Given the description of an element on the screen output the (x, y) to click on. 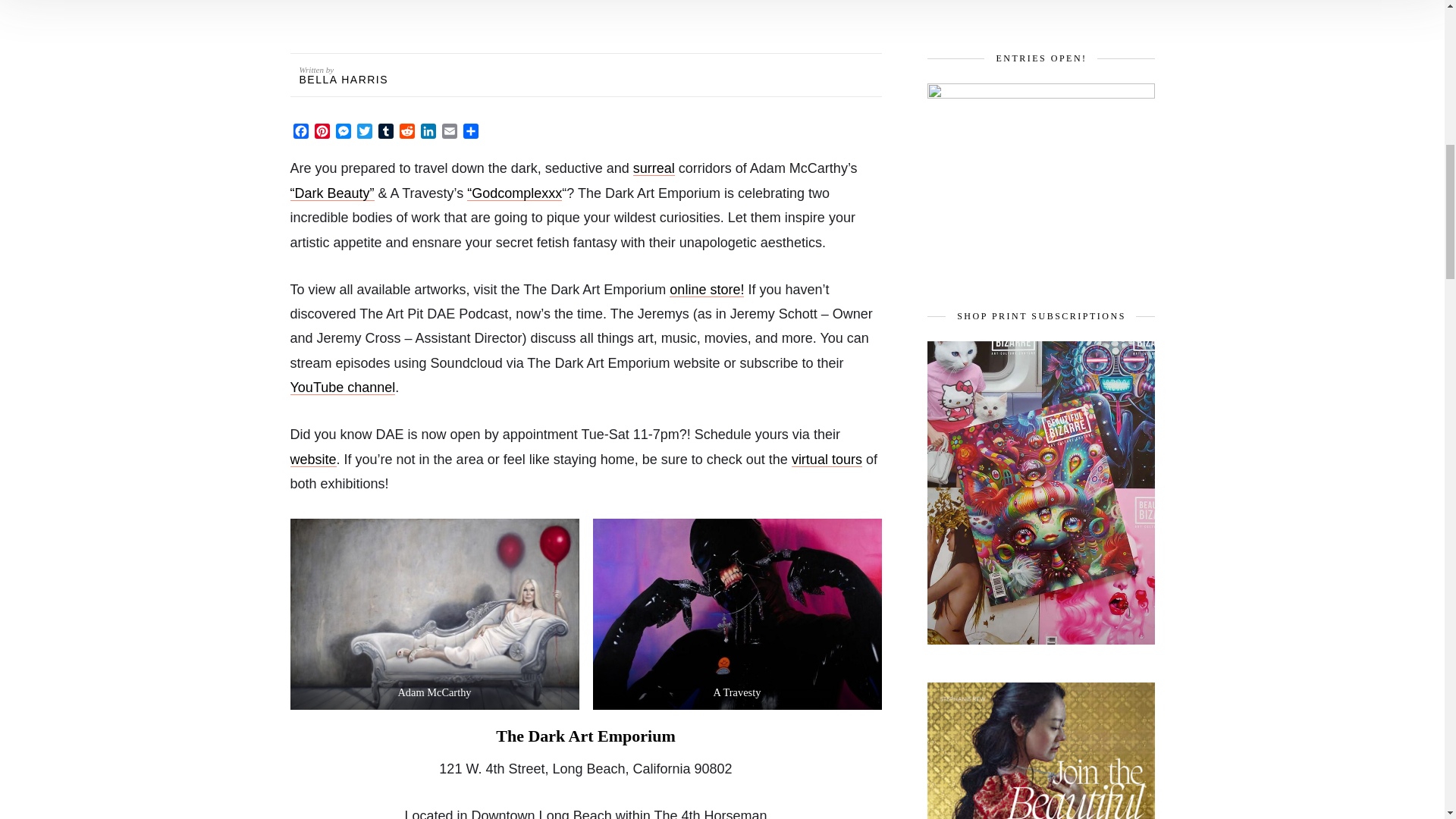
Pinterest (321, 132)
LinkedIn (427, 132)
Email (449, 132)
Tumblr (385, 132)
Posts by Bella Harris (343, 79)
Beautiful Bizarre Art Prize 2024 - banner 6 (1040, 177)
Facebook (300, 132)
Reddit (406, 132)
Messenger (342, 132)
Twitter (363, 132)
